Given the description of an element on the screen output the (x, y) to click on. 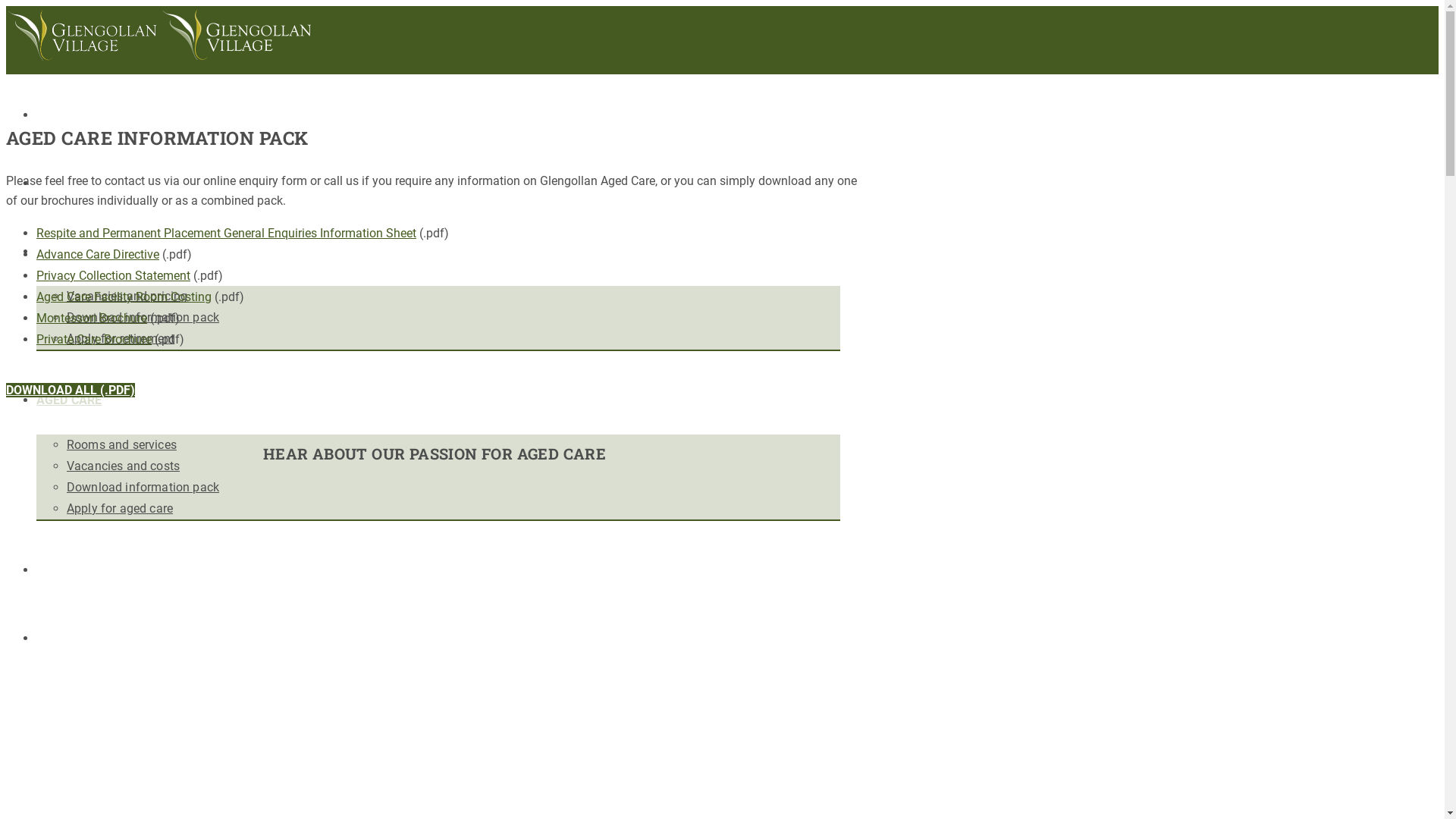
AGED CARE Element type: text (68, 399)
Private Care Brochure Element type: text (93, 339)
Download information pack Element type: text (142, 317)
NEWS Element type: text (53, 569)
Download information pack Element type: text (142, 487)
Aged Care Facility Room Costing Element type: text (123, 296)
ABOUT Element type: text (56, 182)
Rooms and services Element type: text (121, 444)
Vacancies and costs Element type: text (122, 465)
DOWNLOAD ALL (.PDF) Element type: text (70, 389)
HOME Element type: text (53, 114)
Apply for aged care Element type: text (119, 508)
Vacancies and pricing Element type: text (126, 295)
Privacy Collection Statement Element type: text (113, 275)
Montessori Brochure Element type: text (91, 317)
Apply for retirement Element type: text (120, 338)
RETIREMENT Element type: text (73, 251)
Advance Care Directive Element type: text (97, 254)
CONTACT Element type: text (63, 637)
